Given the description of an element on the screen output the (x, y) to click on. 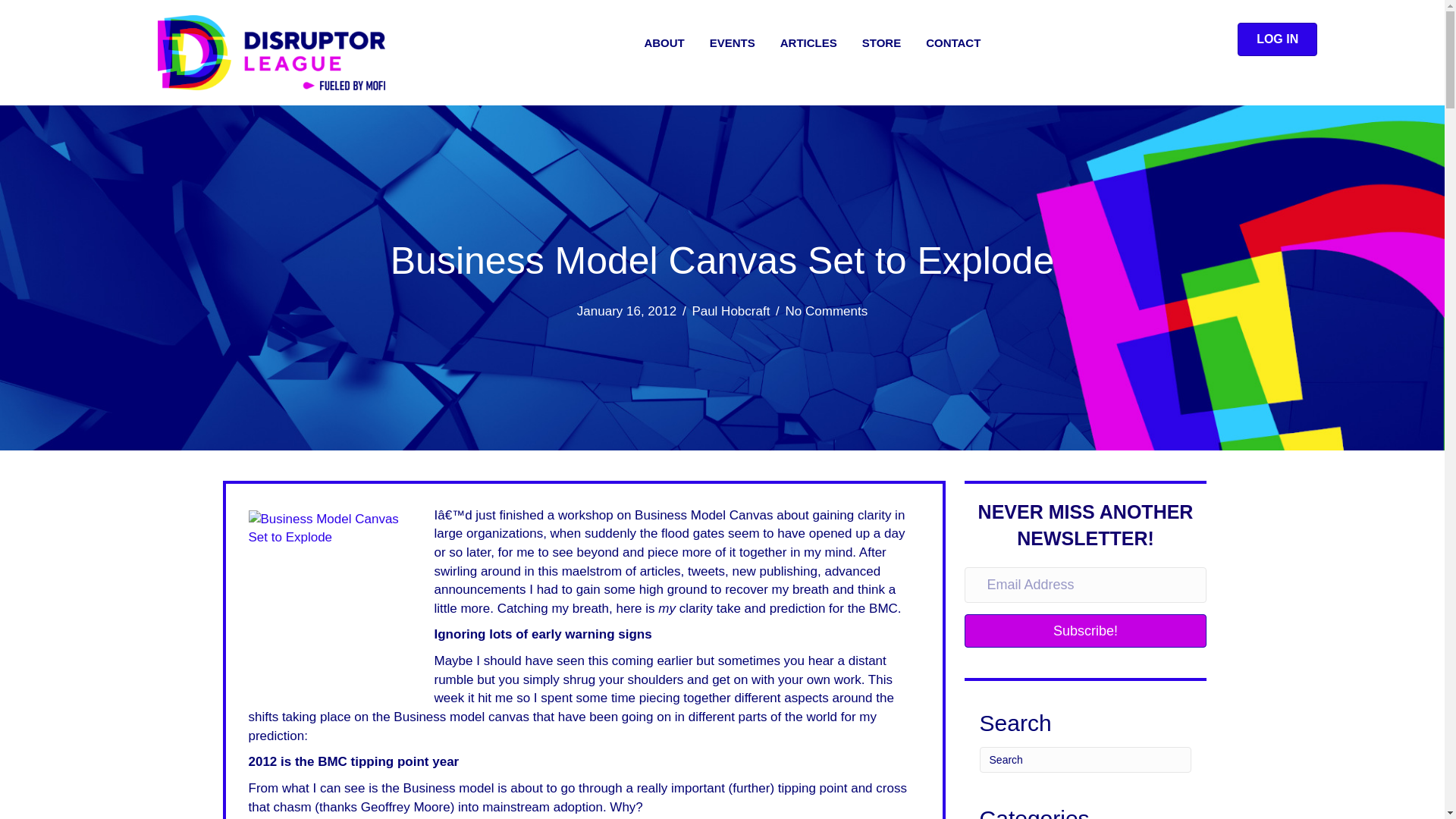
EVENTS (732, 42)
Disruptor-League-Web-Logo-1 (271, 52)
Subscribe! (1085, 630)
Search (1085, 759)
ABOUT (663, 42)
ARTICLES (808, 42)
Search (1085, 759)
images (333, 595)
Paul Hobcraft (730, 310)
Type and press Enter to search. (1085, 759)
